Given the description of an element on the screen output the (x, y) to click on. 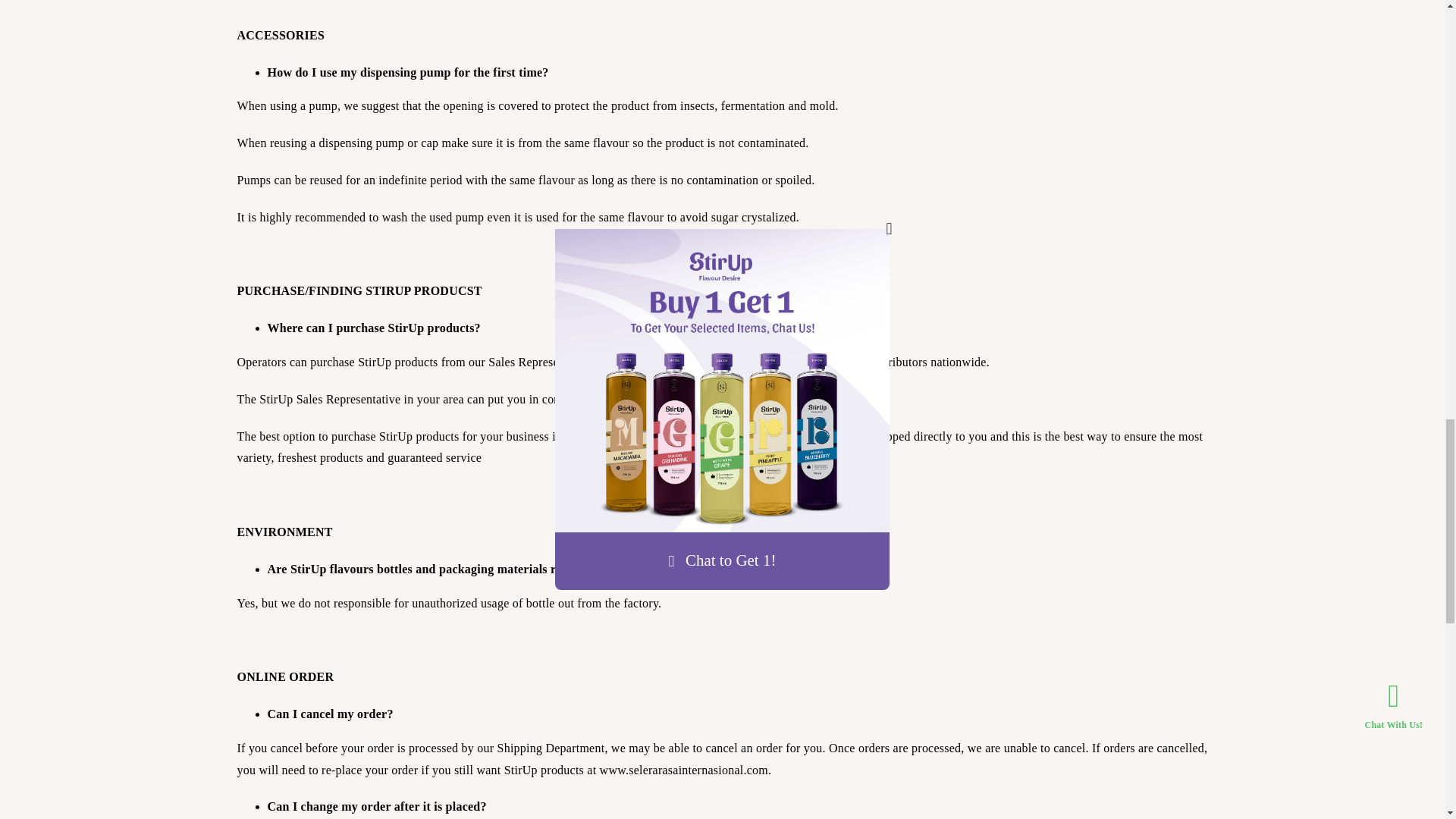
selerarasainternasional.com (660, 436)
www.selerarasainternasional.com (683, 769)
